Given the description of an element on the screen output the (x, y) to click on. 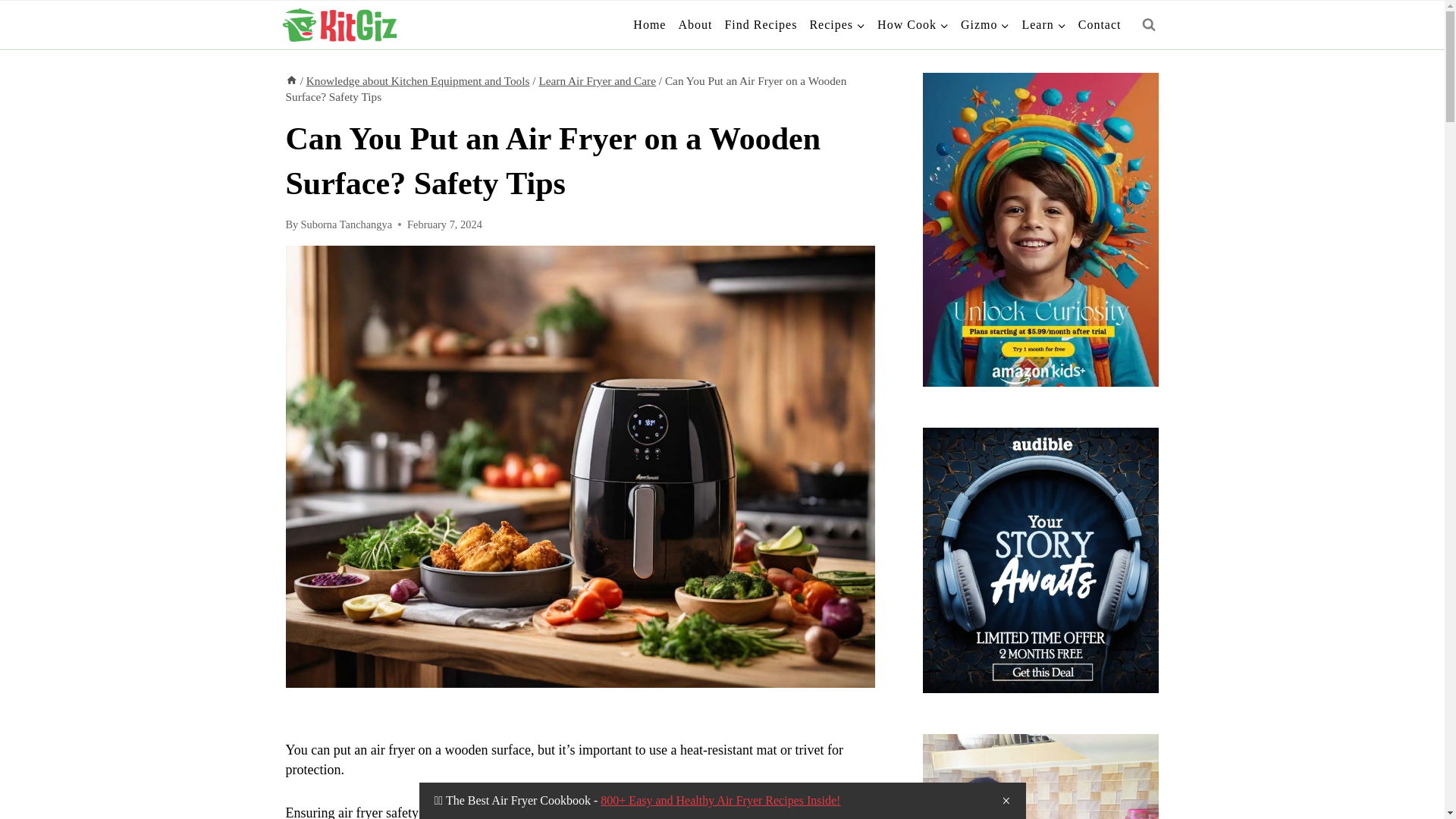
About (694, 25)
Gizmo (985, 25)
Suborna Tanchangya (345, 224)
Learn Air Fryer and Care (597, 80)
Home (649, 25)
Recipes (836, 25)
Knowledge about Kitchen Equipment and Tools (417, 80)
Contact (1098, 25)
Learn (1042, 25)
Find Recipes (760, 25)
Find Air Fryer Recipes (760, 25)
Kitchen Gadget Insights and Reviews (985, 25)
About Suborna Tanchangya (694, 25)
How Cook (912, 25)
